Given the description of an element on the screen output the (x, y) to click on. 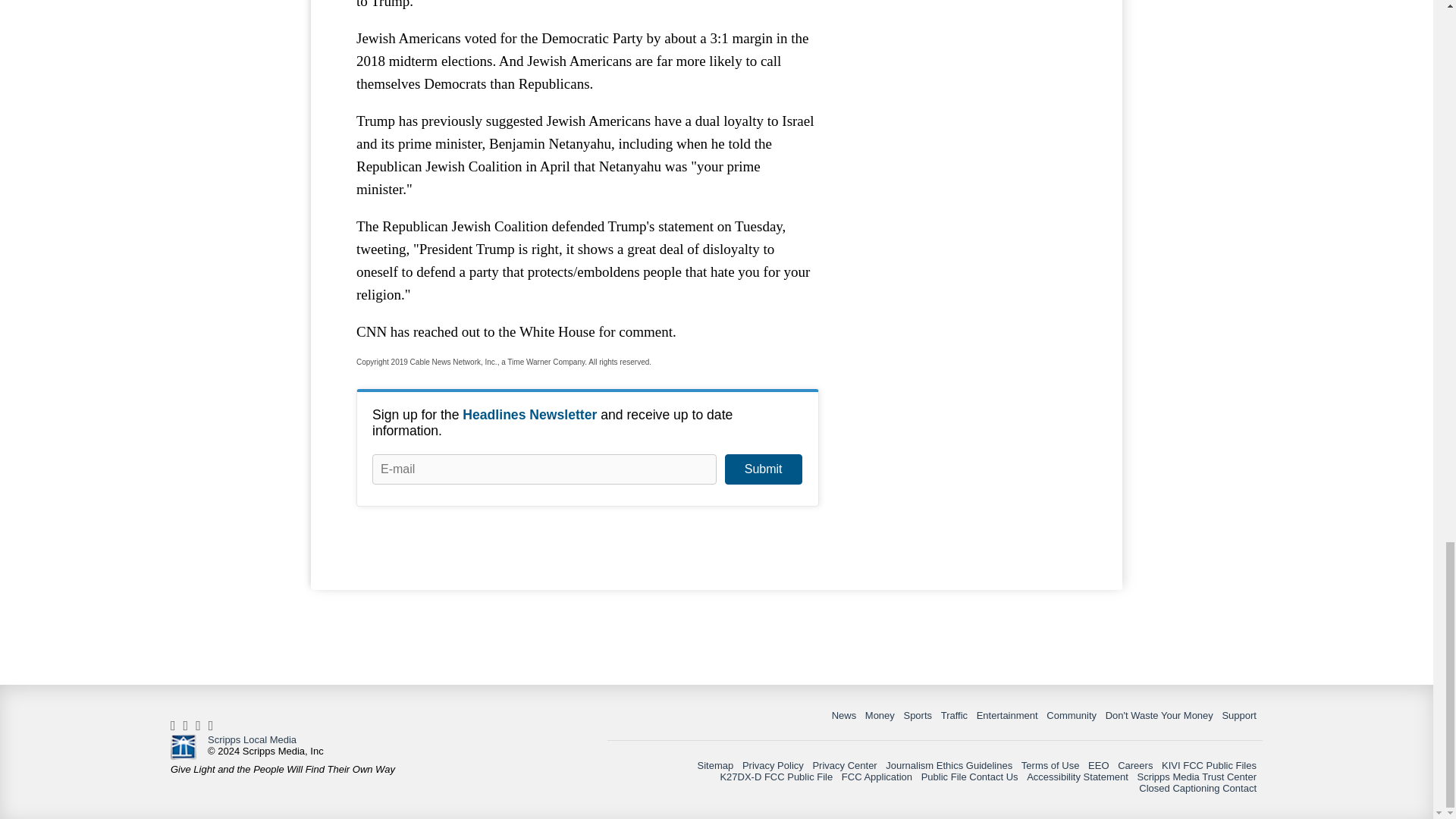
Submit (763, 469)
